Given the description of an element on the screen output the (x, y) to click on. 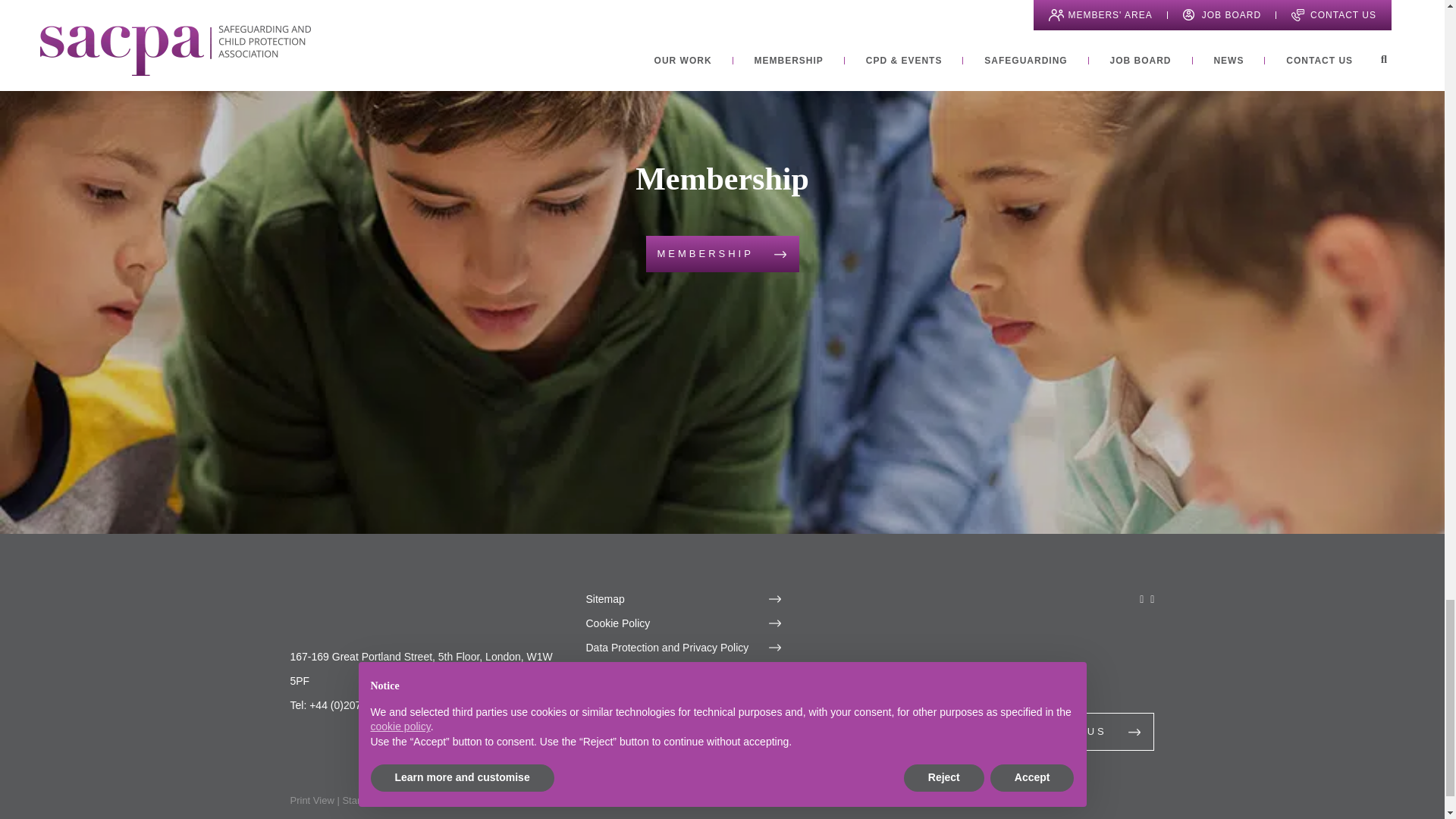
Switch to Standard Visibility (374, 799)
Switch to Print (311, 799)
Switch to High Visibility (442, 799)
